Given the description of an element on the screen output the (x, y) to click on. 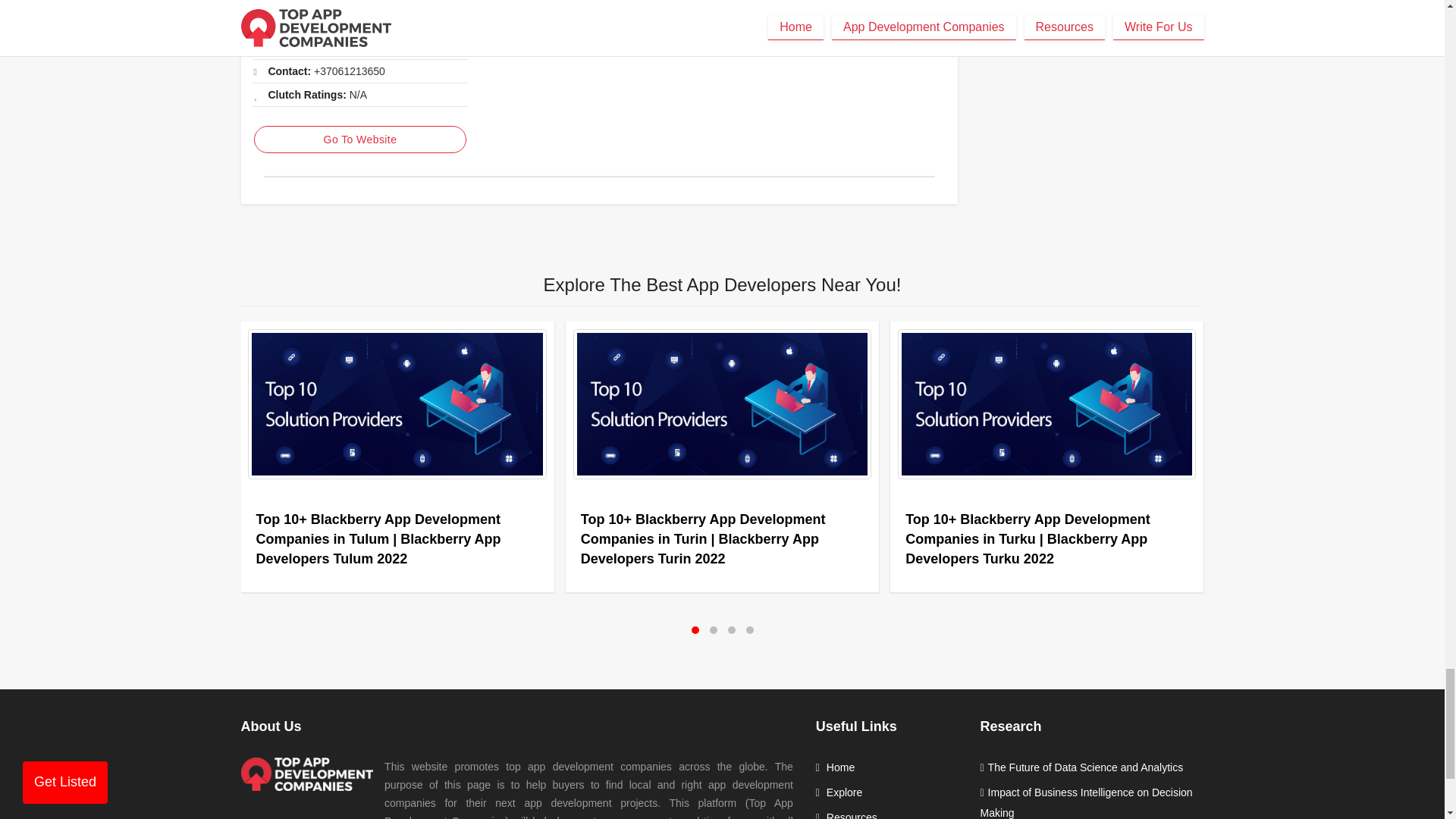
Blackberry App development companies in tulum (396, 404)
Blackberry App development companies in turin (721, 404)
Blackberry App development companies in turku (1046, 404)
